Given the description of an element on the screen output the (x, y) to click on. 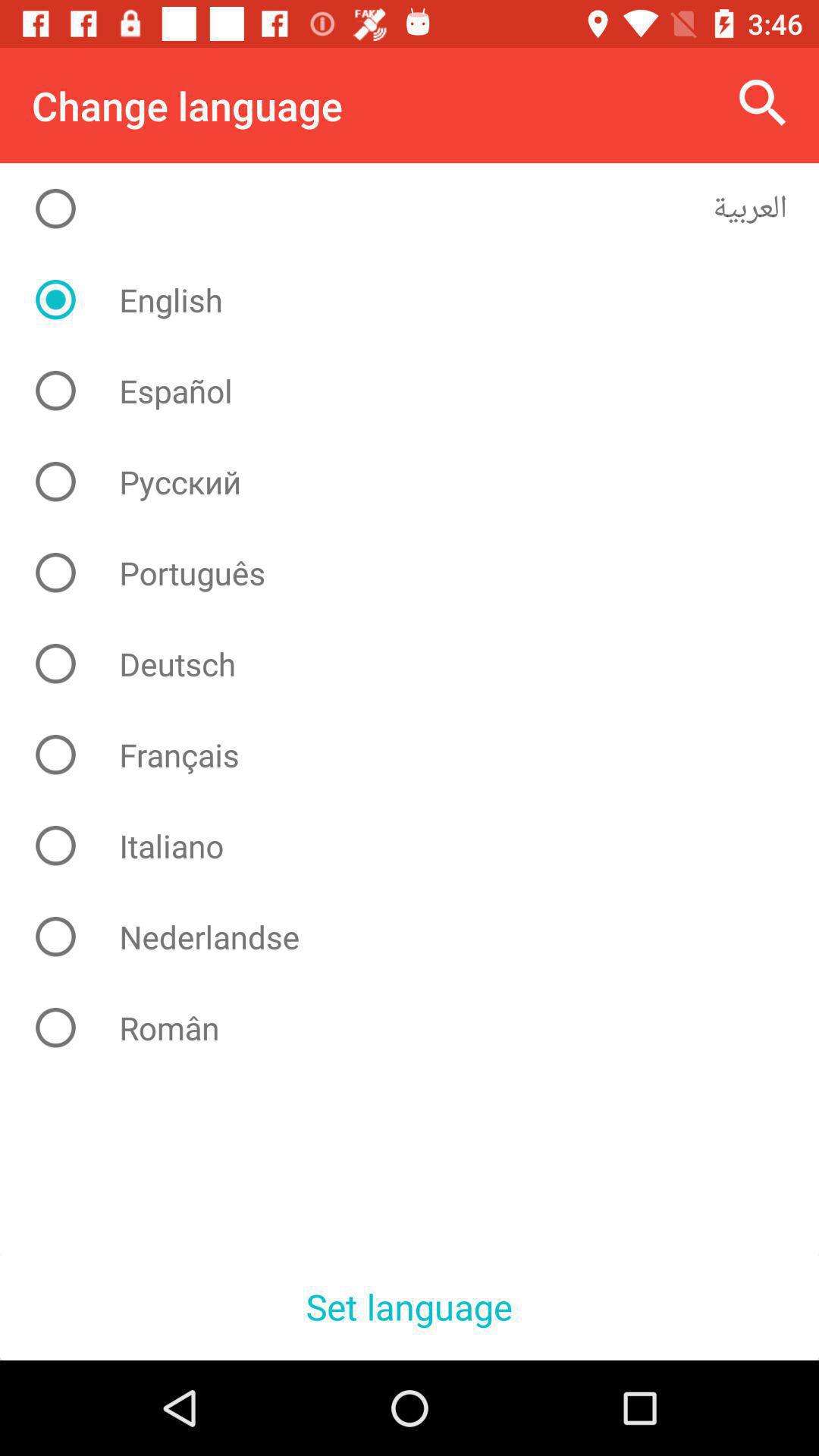
tap the icon above english (421, 208)
